Given the description of an element on the screen output the (x, y) to click on. 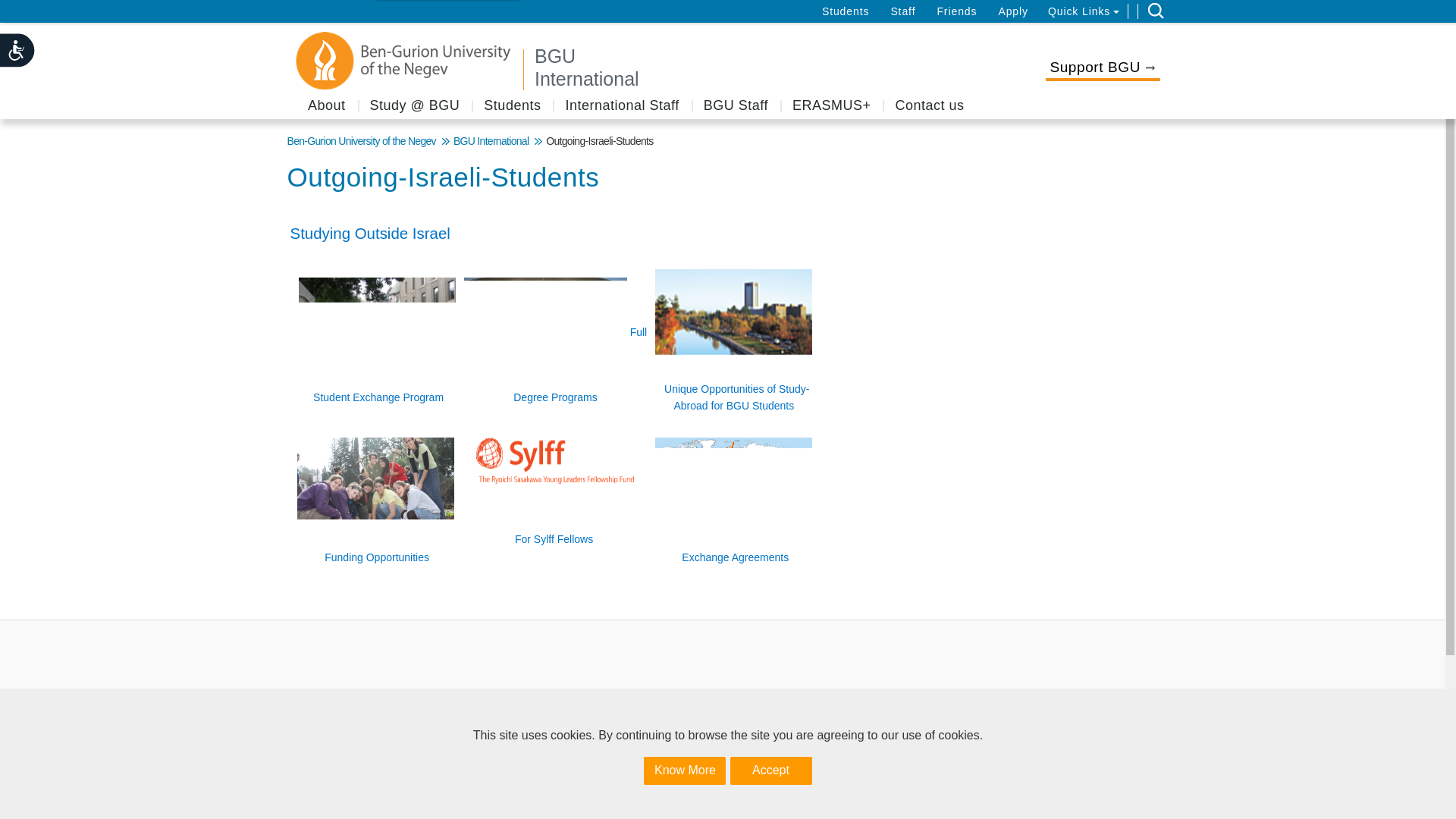
Sign In (23, 11)
Search in site (1155, 10)
Skip to Home Page (750, 67)
BGU Home Page (404, 60)
